Given the description of an element on the screen output the (x, y) to click on. 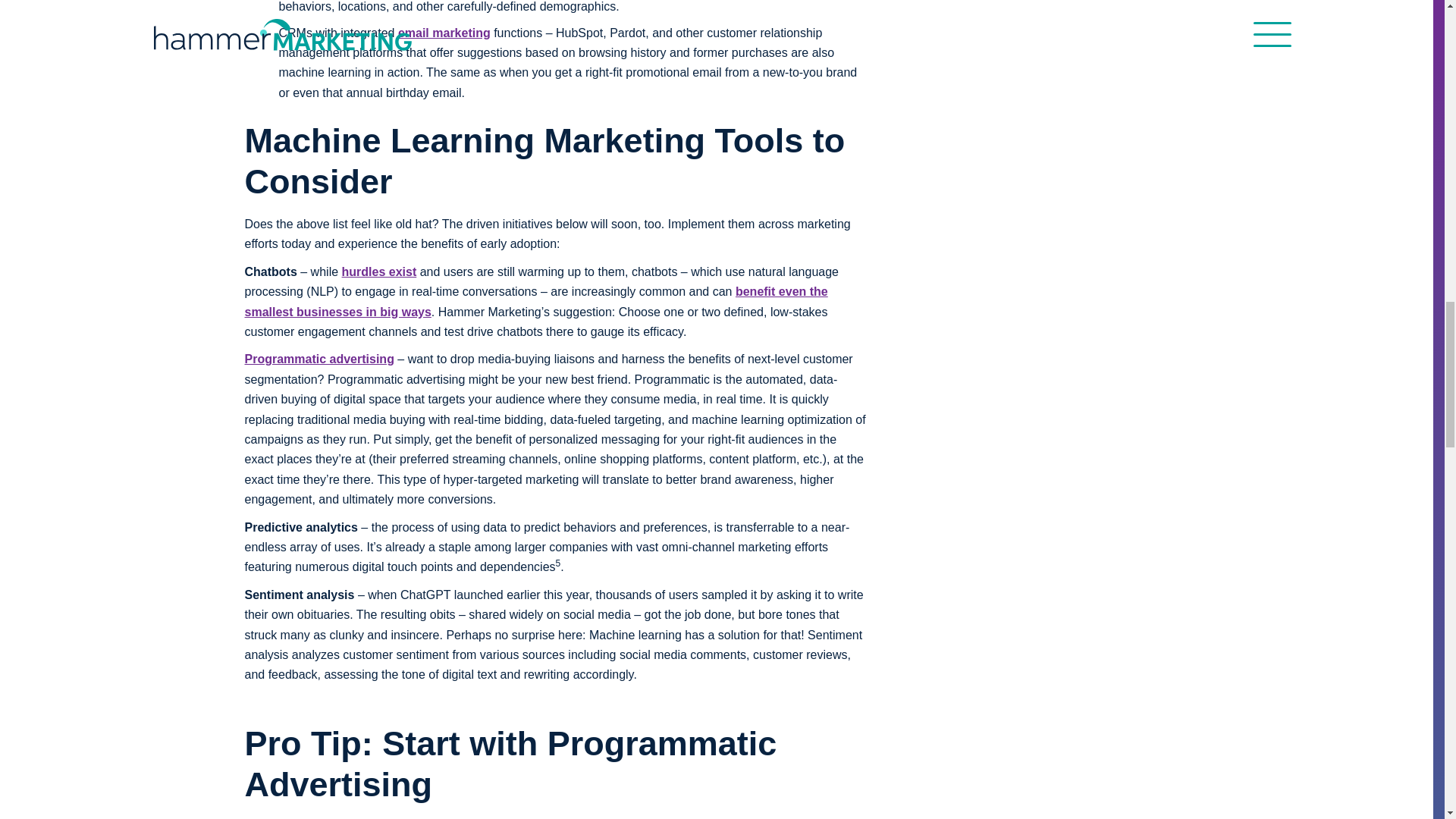
hurdles exist (379, 271)
email marketing (443, 32)
benefit even the smallest businesses in big ways (535, 301)
Programmatic advertising (318, 358)
